Given the description of an element on the screen output the (x, y) to click on. 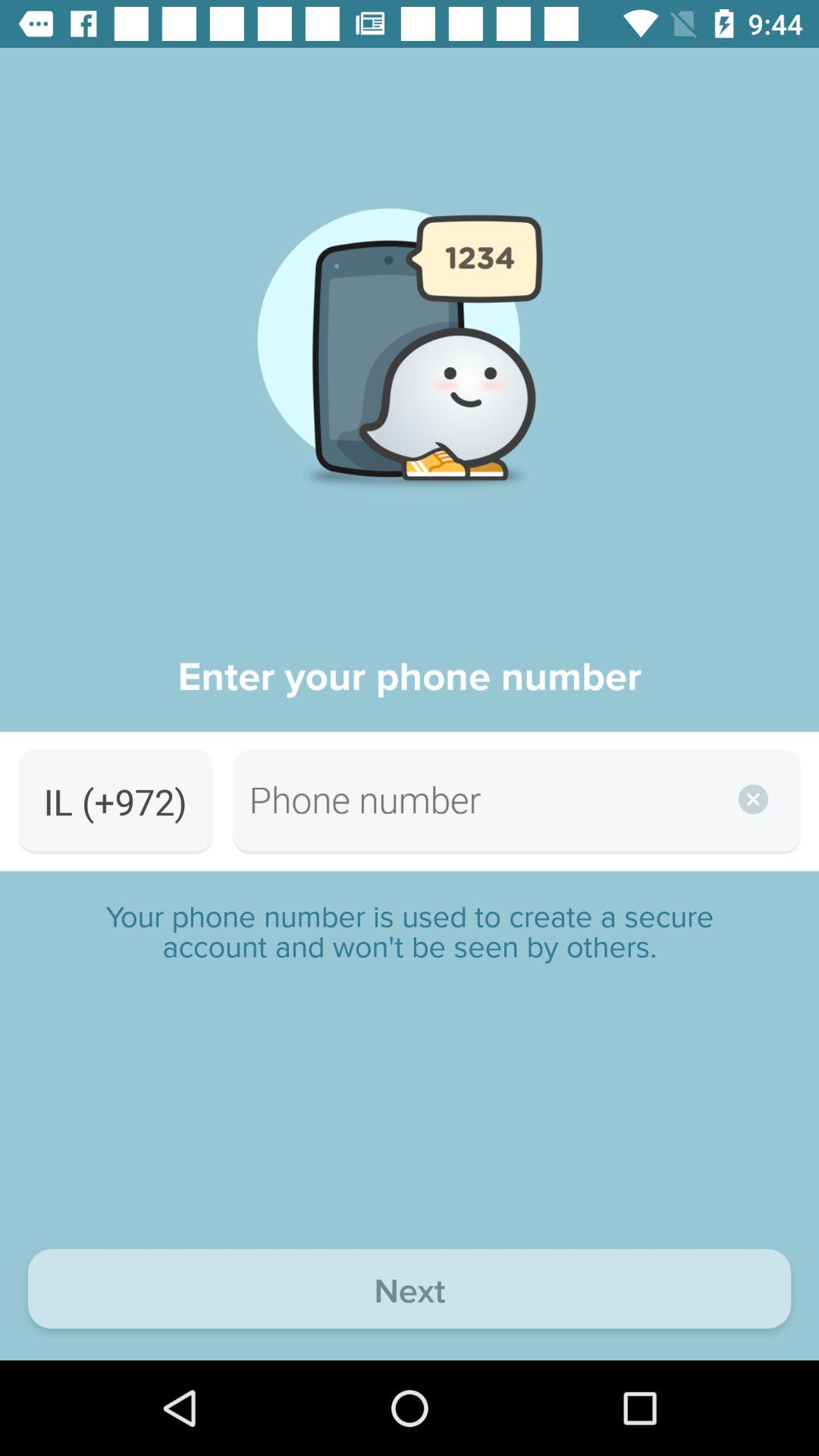
press item below enter your phone (114, 801)
